Given the description of an element on the screen output the (x, y) to click on. 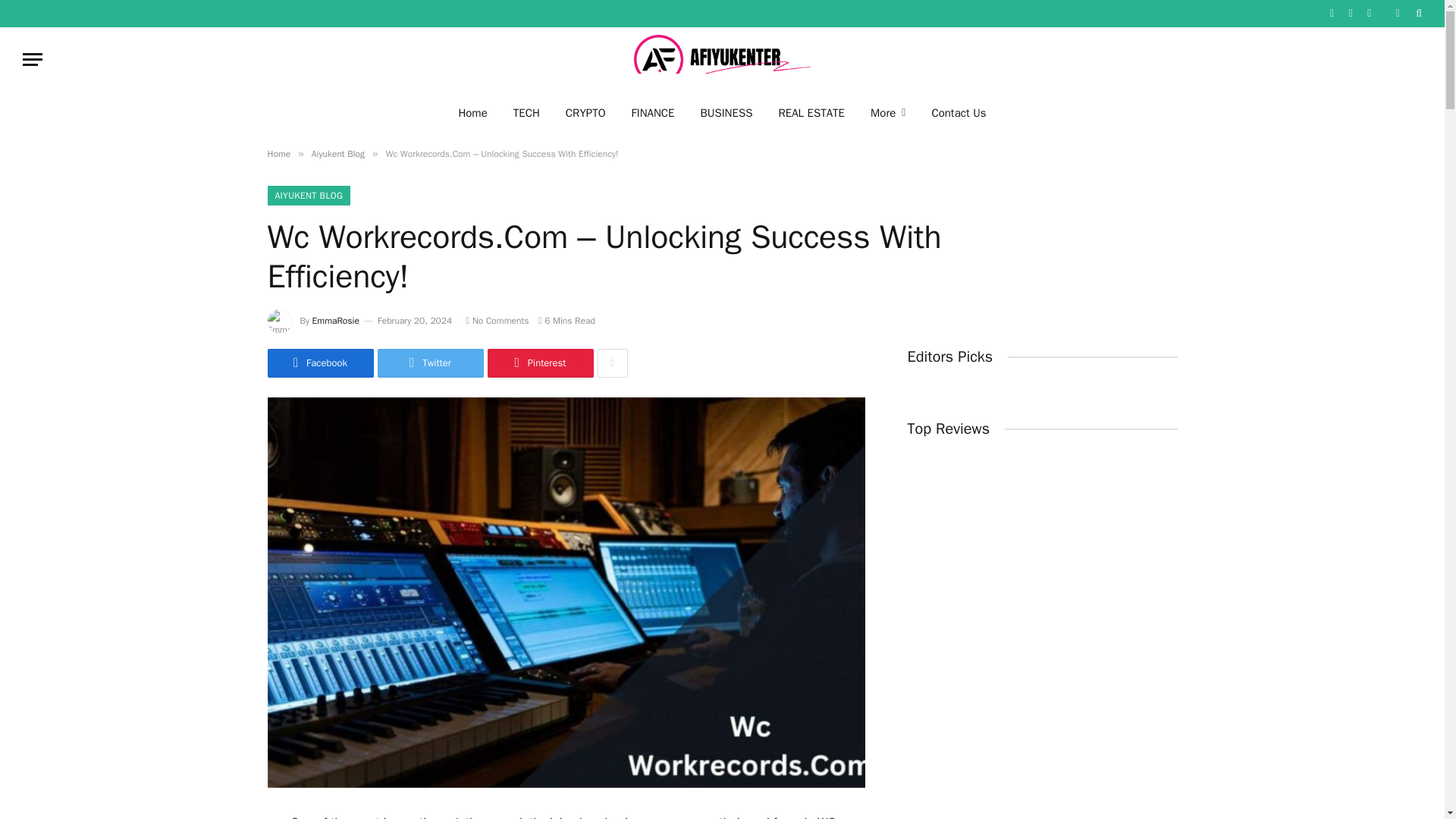
AIYUKENT BLOG (308, 195)
REAL ESTATE (811, 112)
No Comments (496, 320)
Contact Us (958, 112)
Home (277, 153)
FINANCE (652, 112)
Posts by EmmaRosie (336, 320)
Afiyukent (721, 59)
CRYPTO (585, 112)
Facebook (319, 362)
Aiyukent Blog (338, 153)
Home (472, 112)
More (887, 112)
Switch to Dark Design - easier on eyes. (1397, 13)
Share on Facebook (319, 362)
